Given the description of an element on the screen output the (x, y) to click on. 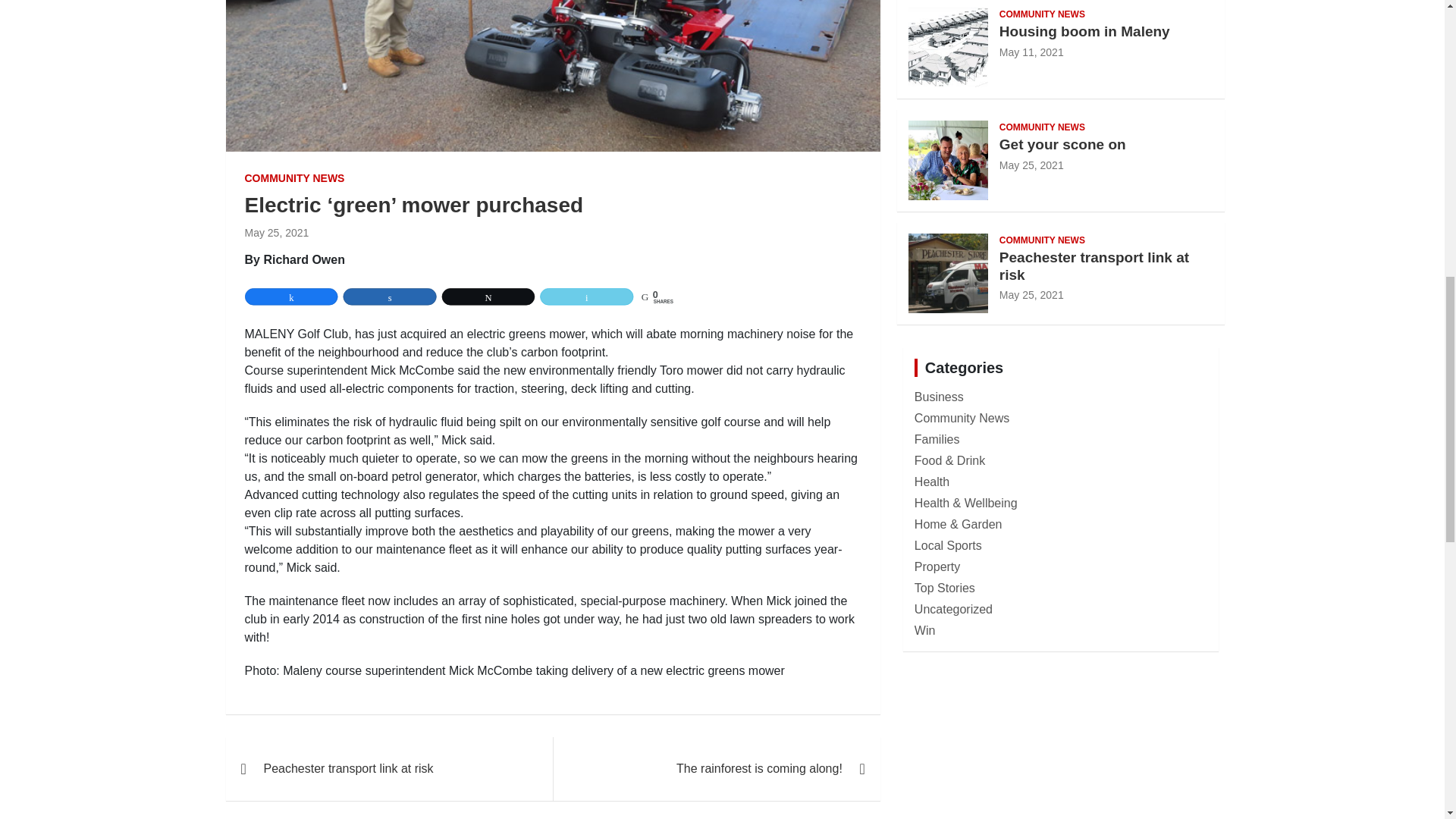
Housing boom in Maleny (1031, 51)
Peachester transport link at risk (1031, 295)
Get your scone on (1031, 164)
